Given the description of an element on the screen output the (x, y) to click on. 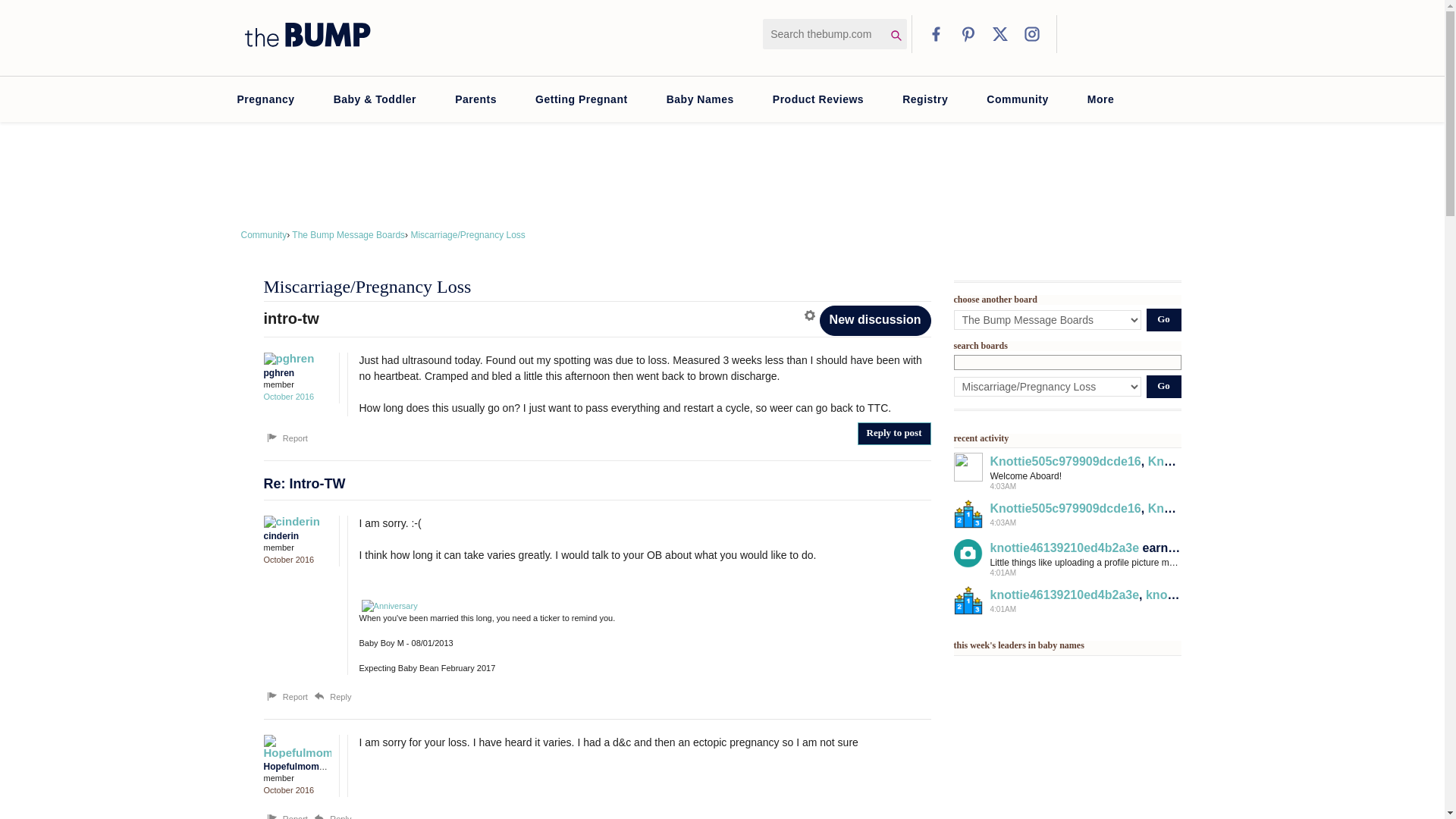
pghren (293, 358)
October 5, 2016 4:39AM (288, 396)
Report (285, 438)
Report (285, 815)
October 5, 2016 1:17PM (288, 559)
member (297, 384)
Report (285, 696)
member (297, 778)
cinderin (293, 521)
Go (1163, 319)
